Given the description of an element on the screen output the (x, y) to click on. 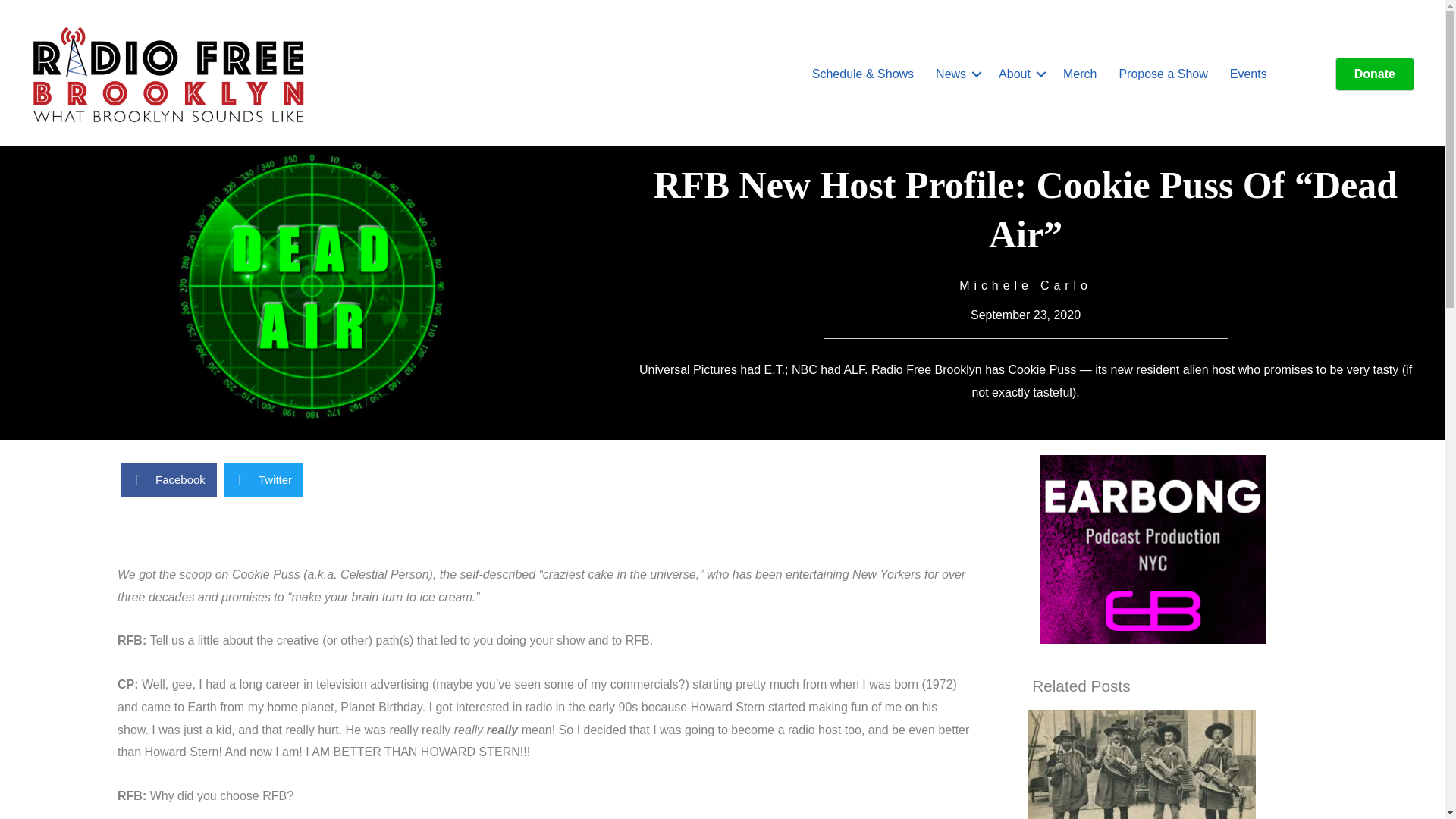
Events (1249, 73)
Donate (1374, 73)
Earbong Brooklyn Podcast Studio (1152, 549)
Twitter (263, 479)
About (1019, 73)
cropped-RFB-Logo-3-Layer-Antenna-A.png (167, 74)
News (955, 73)
DeadAir-Logo (310, 286)
Michele Carlo (1025, 285)
Facebook (168, 479)
Propose a Show (1162, 73)
Merch (1079, 73)
